Given the description of an element on the screen output the (x, y) to click on. 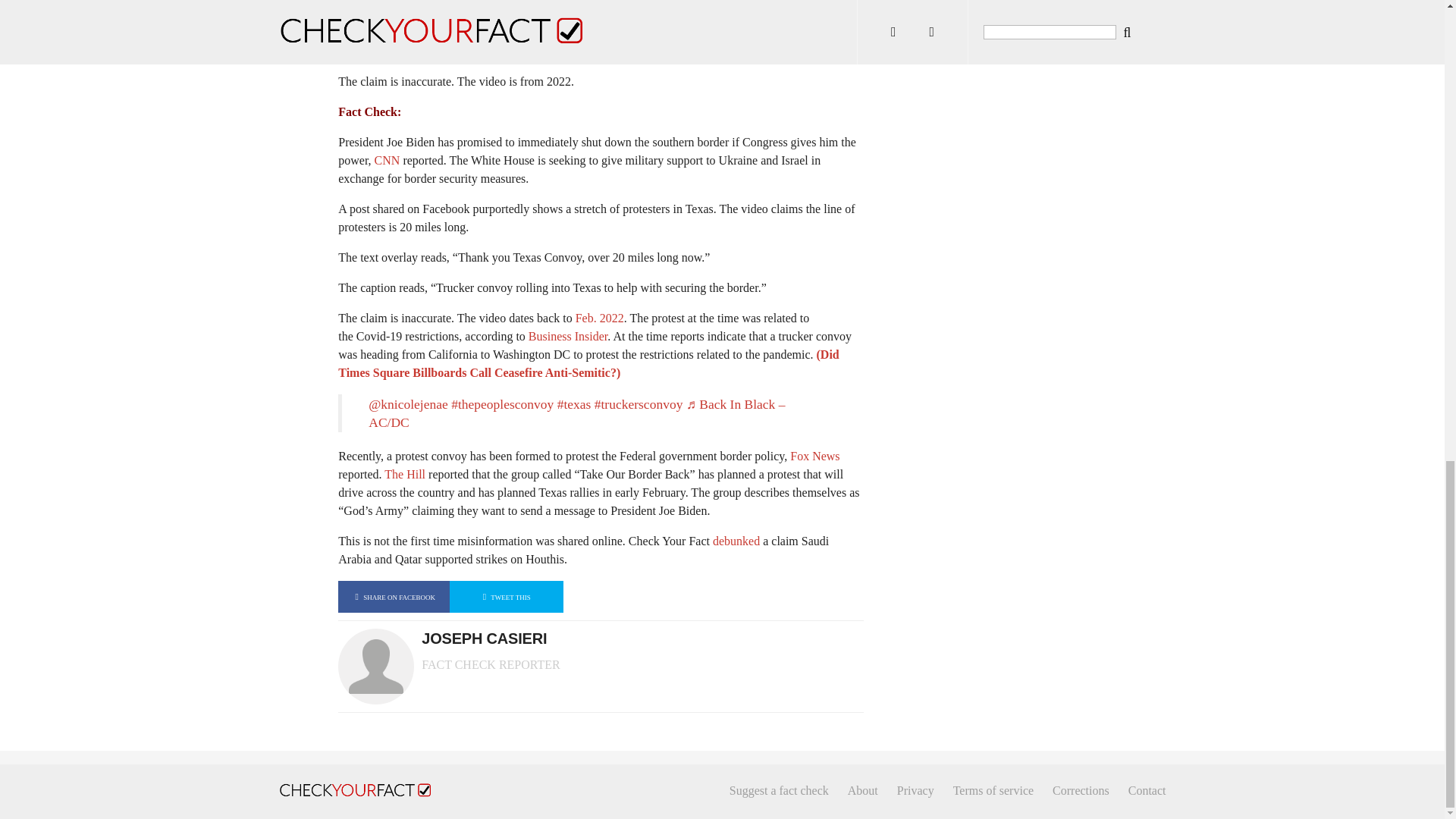
Suggest a fact check (778, 789)
Fox News (815, 455)
Corrections (1080, 789)
CNN (387, 160)
thepeoplesconvoy (502, 403)
Privacy (915, 789)
The Hill (404, 473)
debunked (736, 540)
SHARE ON FACEBOOK (394, 596)
texas (574, 403)
Contact (1147, 789)
Business Insider (567, 336)
truckersconvoy (638, 403)
Feb. 2022 (599, 318)
